Given the description of an element on the screen output the (x, y) to click on. 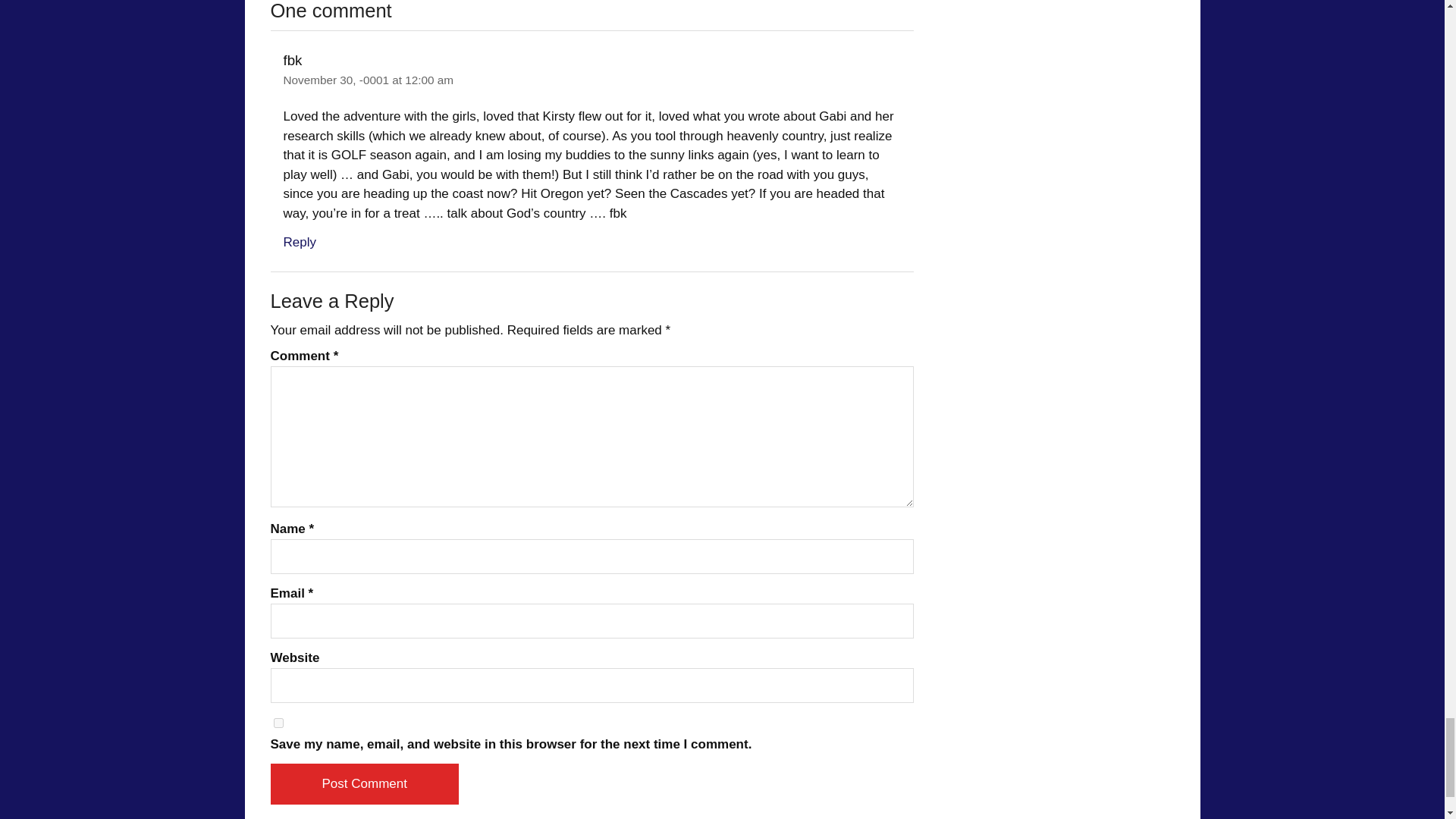
yes (277, 723)
Post Comment (363, 783)
November 30, -0001 at 12:00 am (368, 79)
Post Comment (363, 783)
Reply (299, 242)
